Given the description of an element on the screen output the (x, y) to click on. 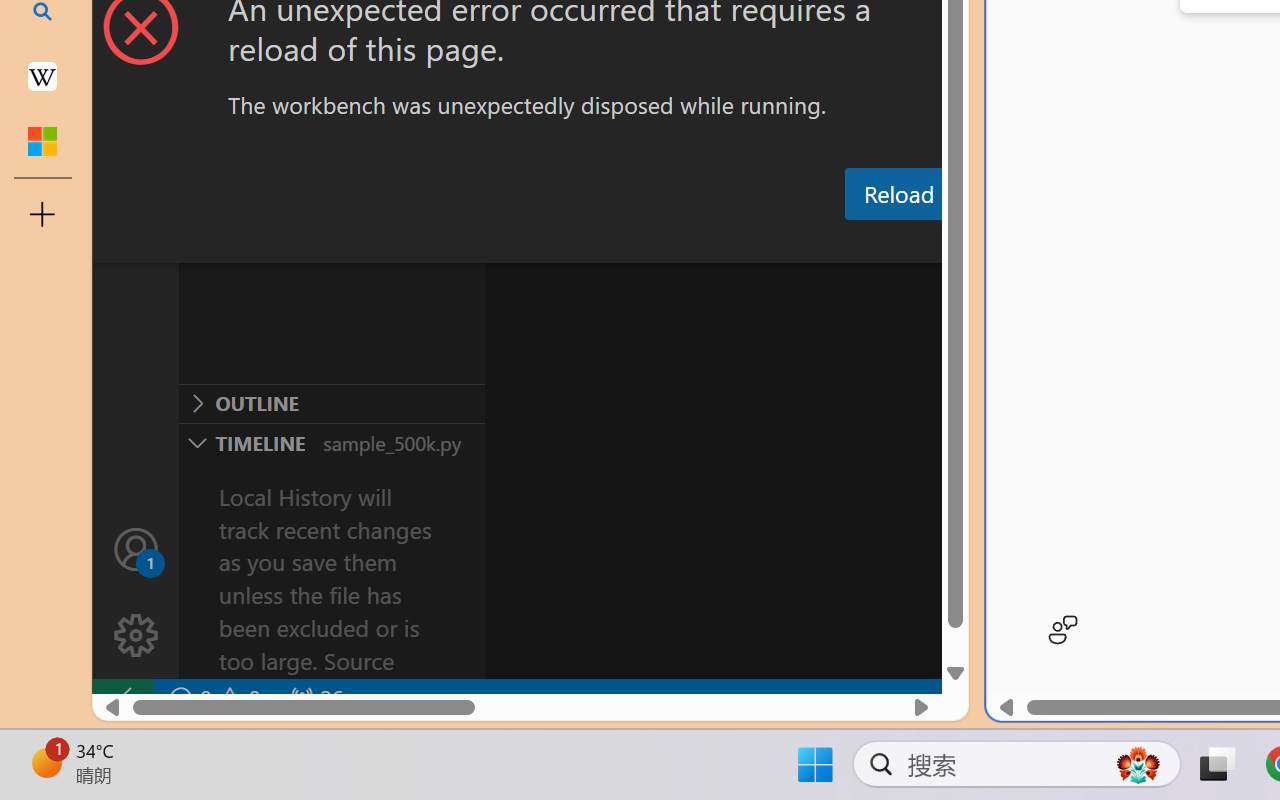
No Problems (212, 698)
Output (Ctrl+Shift+U) (696, 243)
Earth - Wikipedia (42, 75)
remote (122, 698)
Manage (135, 591)
